Given the description of an element on the screen output the (x, y) to click on. 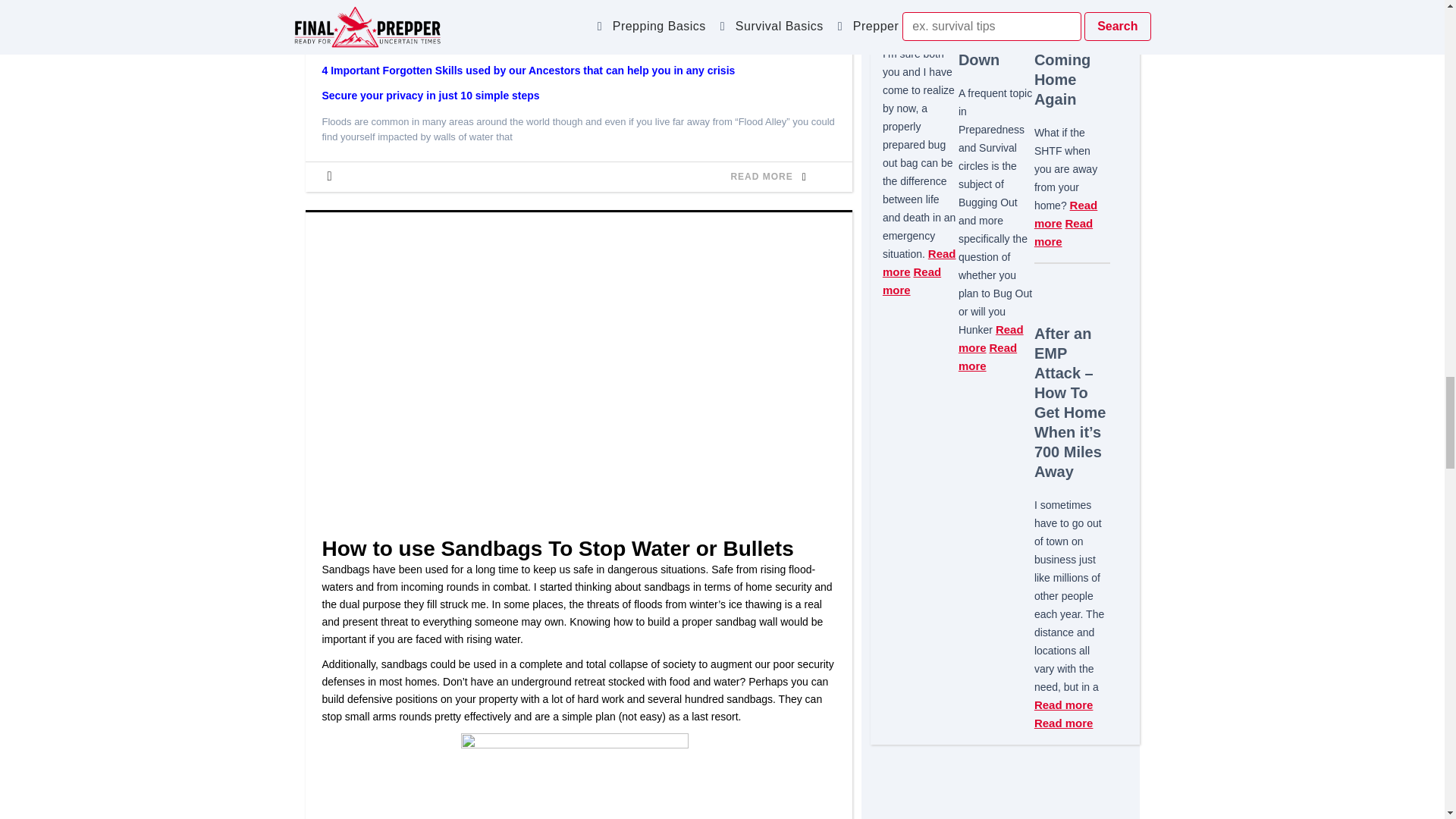
How to use Sandbags To Stop Water or Bullets (557, 548)
